Given the description of an element on the screen output the (x, y) to click on. 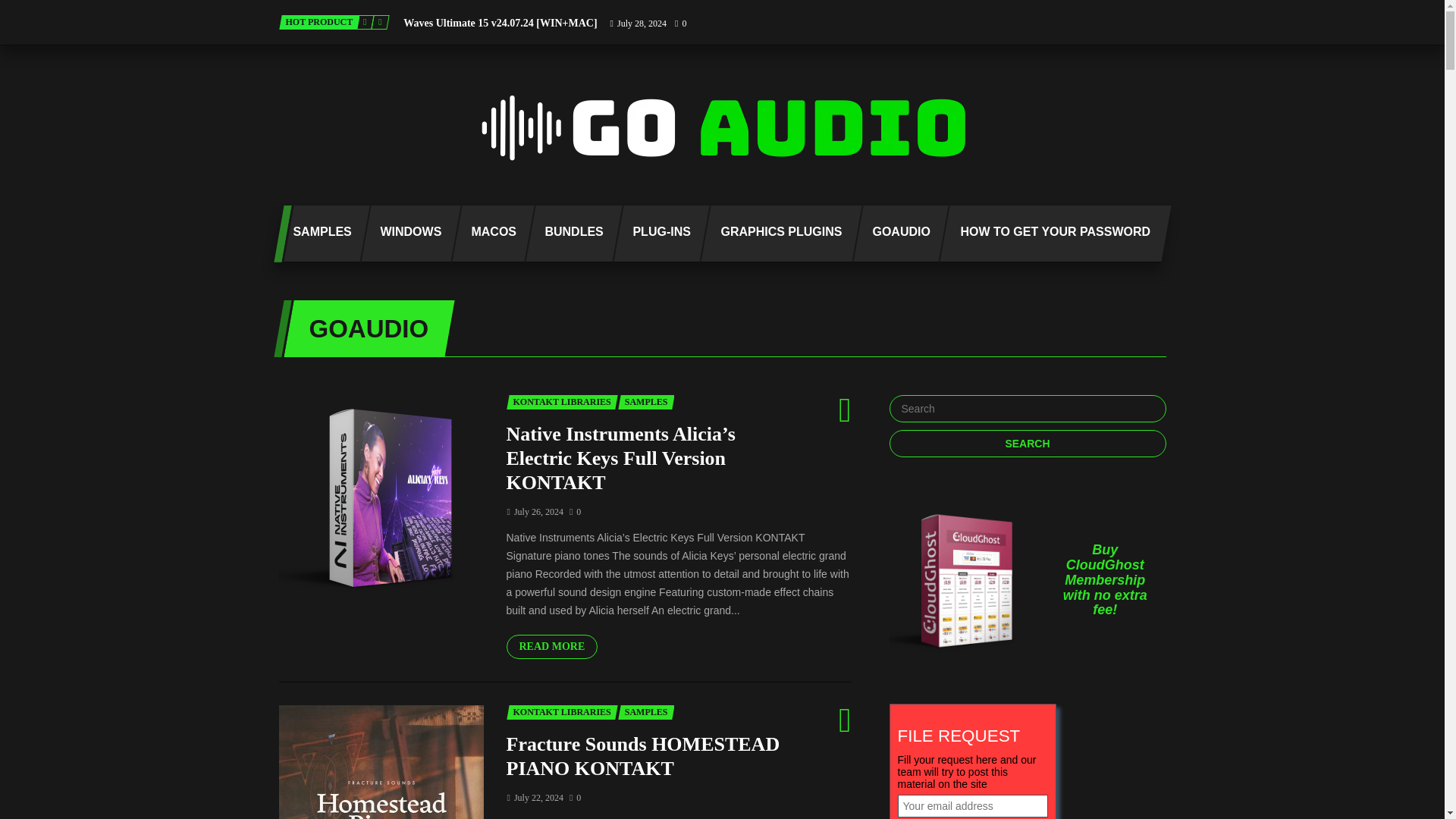
0 (679, 23)
Windows (404, 233)
Samples (316, 233)
July 28, 2024 (638, 23)
PLUG-INS (656, 233)
macOS (486, 233)
Bundles (568, 233)
HOT PRODUCT (319, 22)
MACOS (486, 233)
Plug-ins (656, 233)
SAMPLES (316, 233)
BUNDLES (568, 233)
WINDOWS (404, 233)
GRAPHICS PLUGINS (775, 233)
Search (1027, 443)
